Given the description of an element on the screen output the (x, y) to click on. 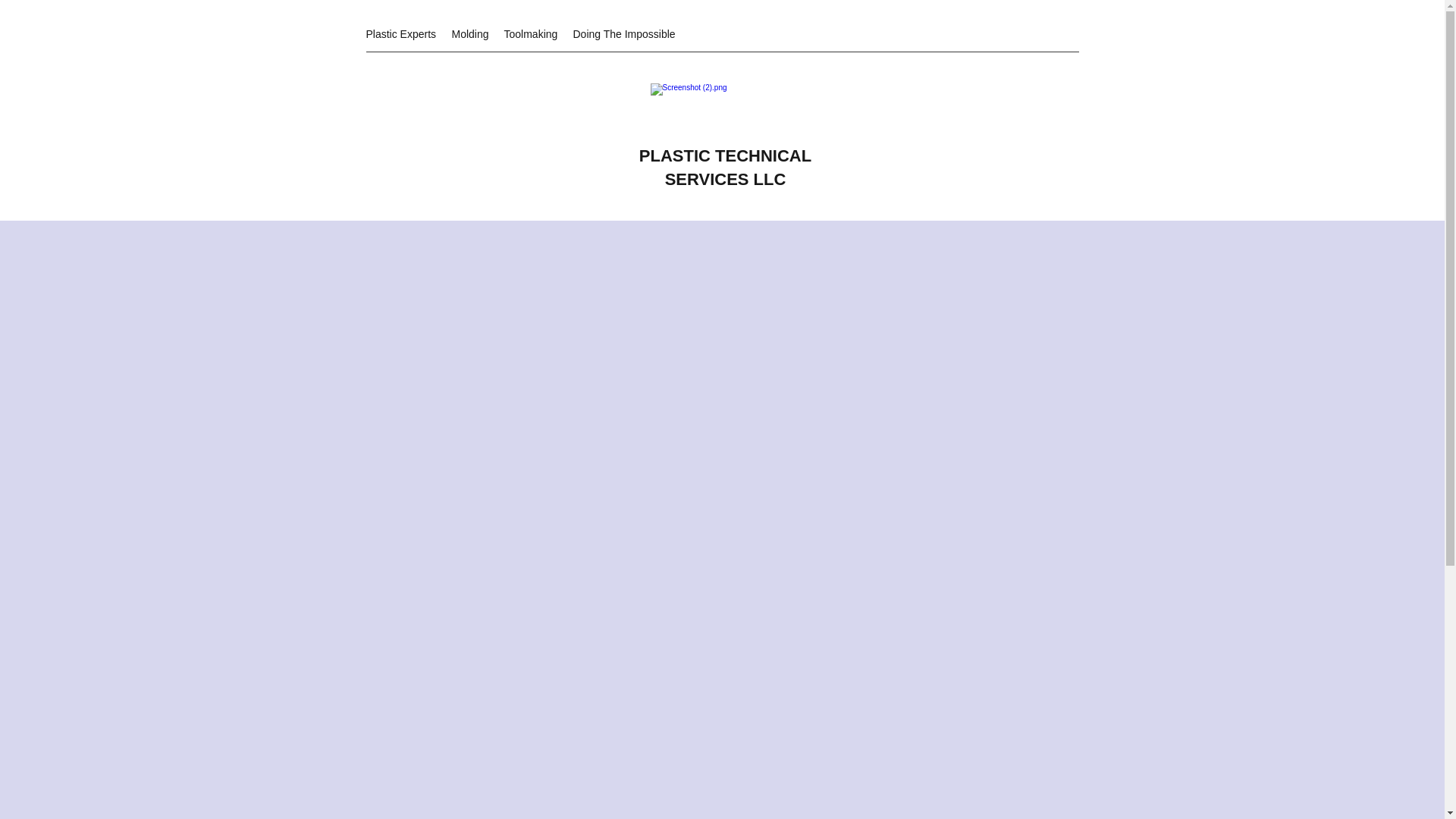
Plastic Experts (401, 33)
Toolmaking (530, 33)
Molding (470, 33)
Doing The Impossible (624, 33)
